Given the description of an element on the screen output the (x, y) to click on. 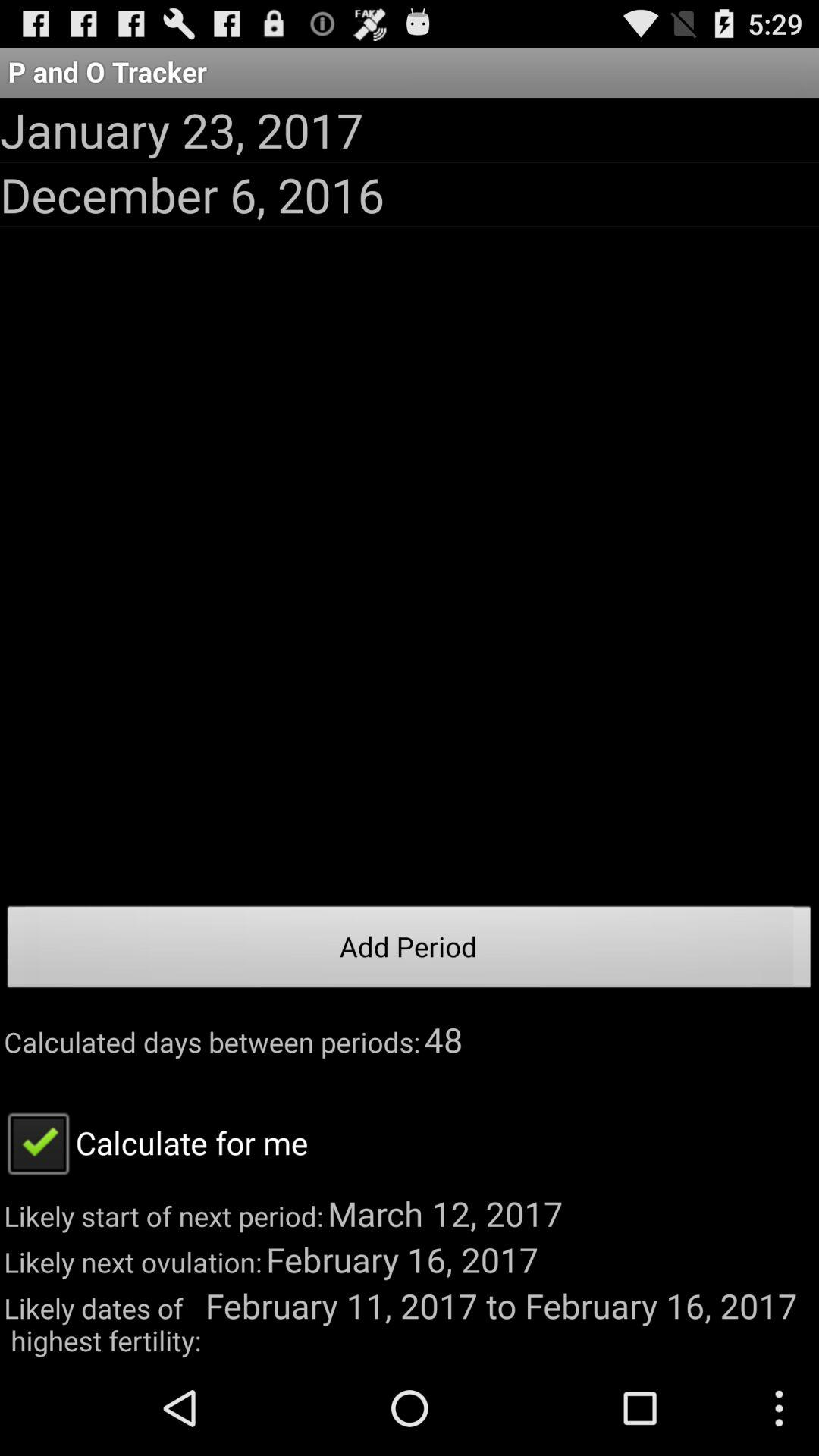
click the item to the left of the march 12, 2017 item (154, 1142)
